Given the description of an element on the screen output the (x, y) to click on. 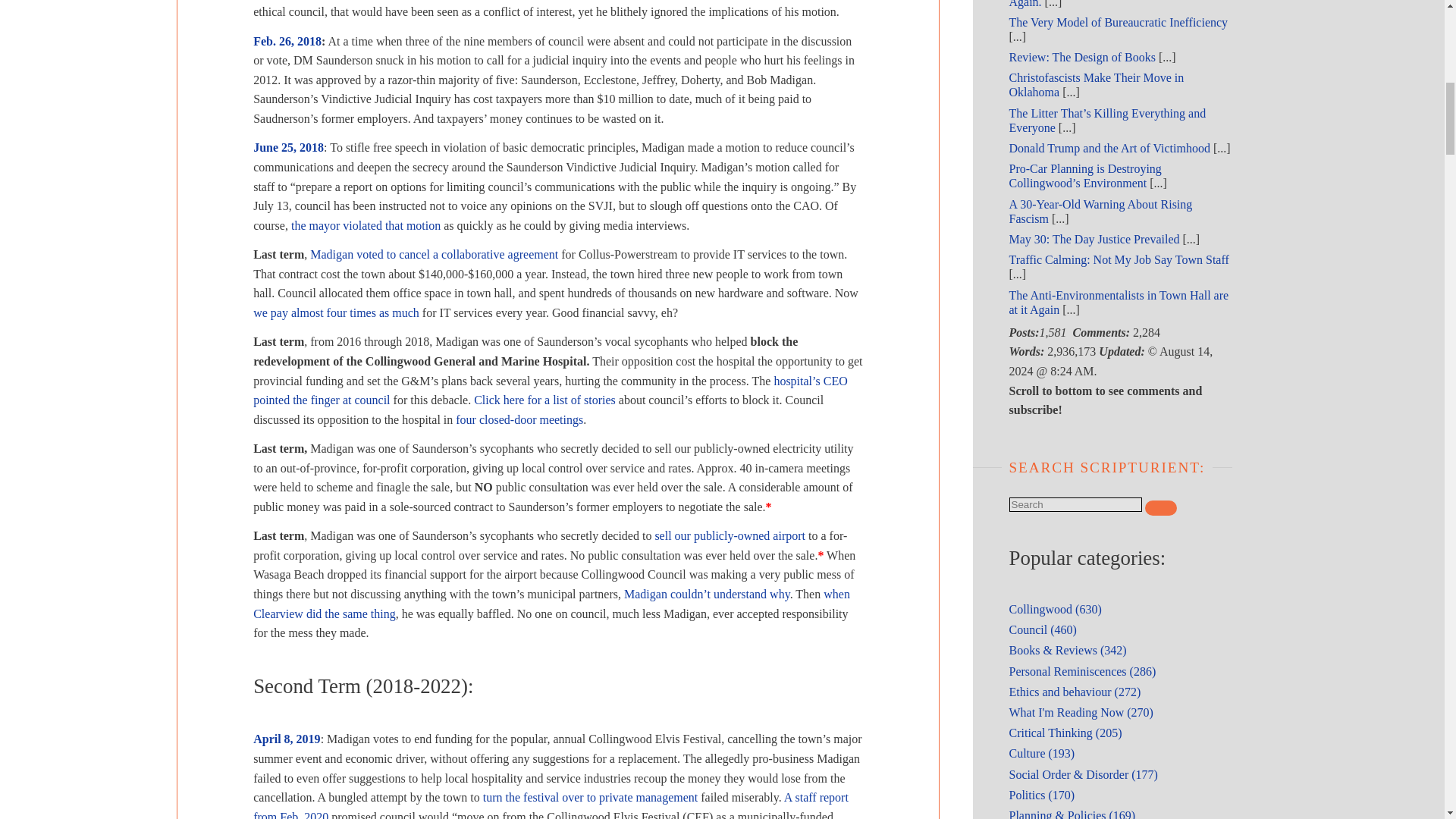
The Very Model of Bureaucratic Inefficiency (1118, 21)
Review: The Design of Books (1081, 56)
Council Screws Collingwood Residents. Again. (1107, 3)
Christofascists Make Their Move in Oklahoma (1096, 84)
Donald Trump and the Art of Victimhood (1109, 147)
